Given the description of an element on the screen output the (x, y) to click on. 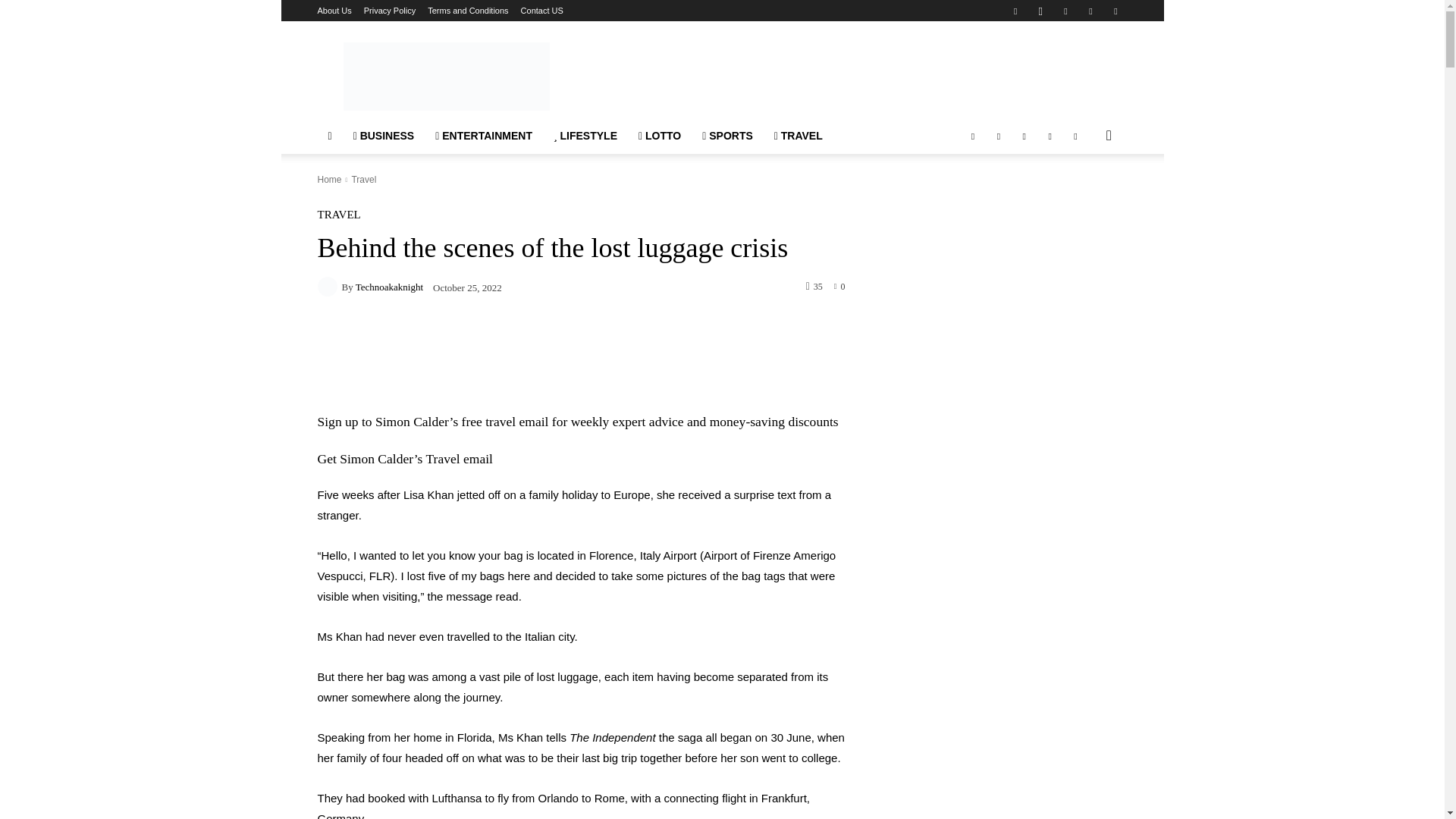
About Us (333, 10)
Terms and Conditions (468, 10)
ENTERTAINMENT (484, 135)
TRAVEL (797, 135)
LIFESTYLE (585, 135)
Pinterest (1065, 10)
LOTTO (659, 135)
Youtube (1114, 10)
Privacy Policy (389, 10)
Twitter (1090, 10)
SPORTS (726, 135)
BUSINESS (383, 135)
Contact US (542, 10)
Instagram (1040, 10)
Facebook (1015, 10)
